Given the description of an element on the screen output the (x, y) to click on. 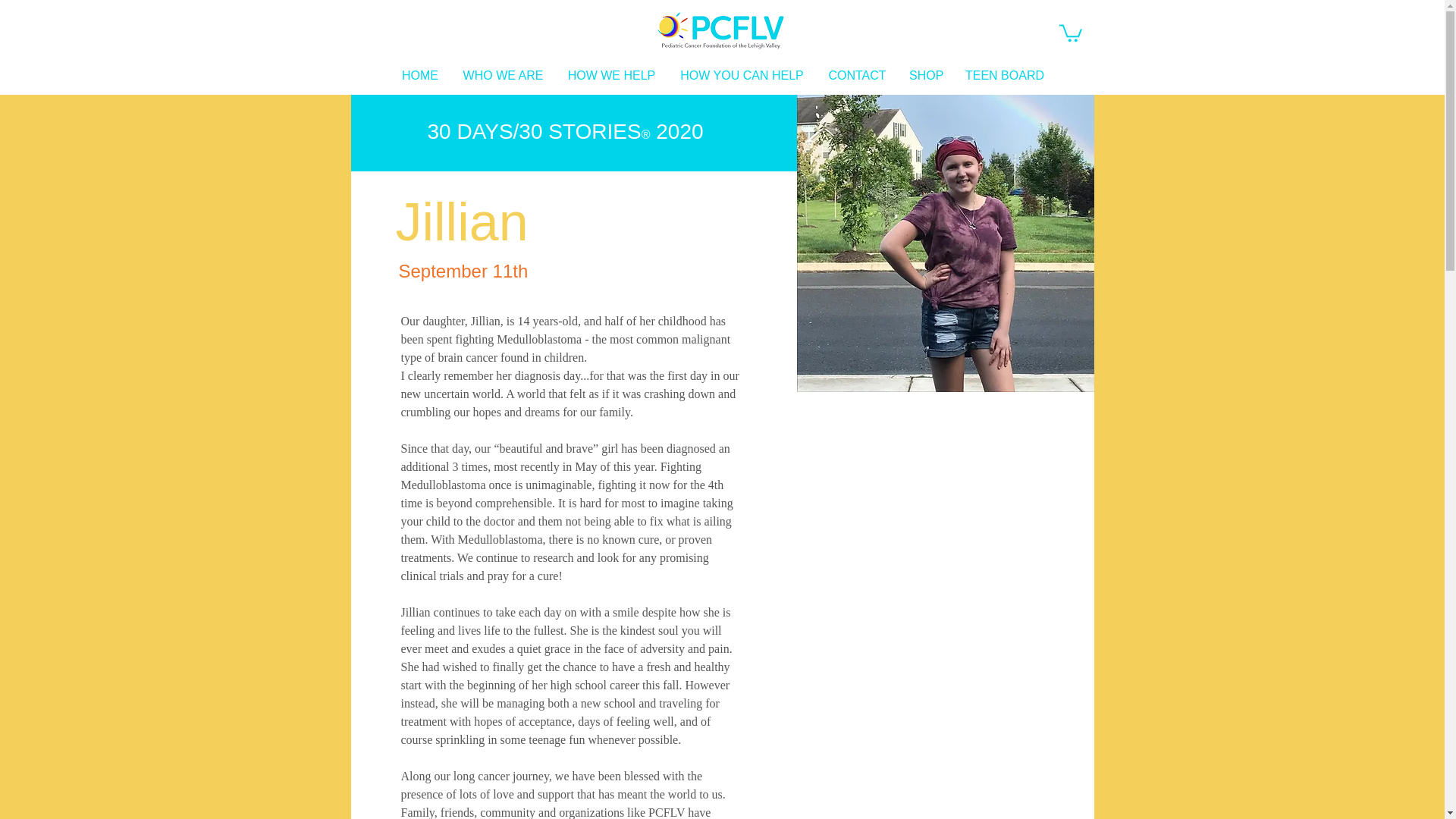
HOME (419, 75)
HOW WE HELP (611, 75)
Screen Shot 2019-01-16 at 2.15.50 PM.png (720, 30)
SHOP (925, 75)
Jillian2020.jpeg (944, 243)
TEEN BOARD (1004, 75)
WHO WE ARE (502, 75)
HOW YOU CAN HELP (741, 75)
CONTACT (857, 75)
